Given the description of an element on the screen output the (x, y) to click on. 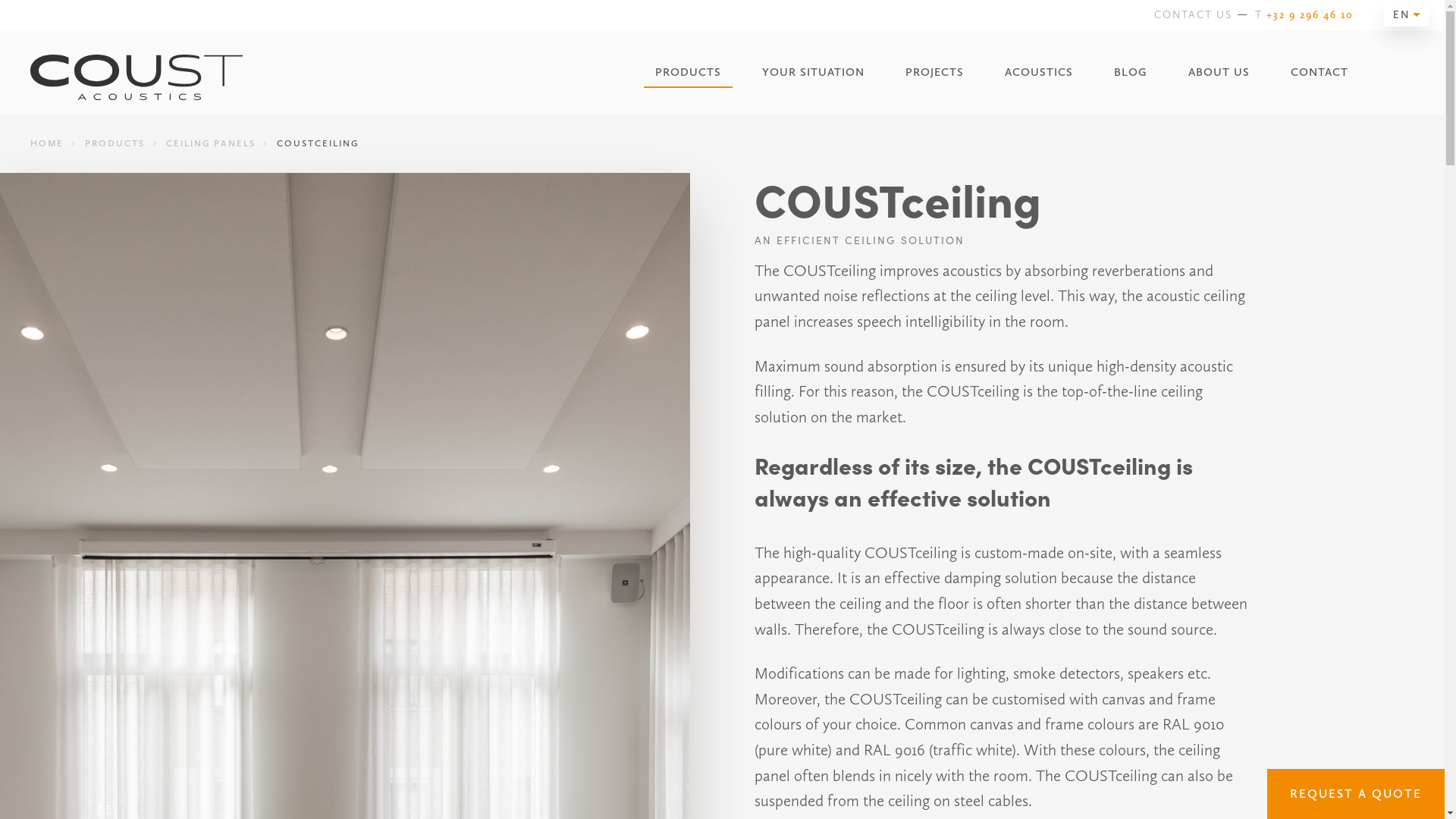
HOME Element type: text (46, 143)
ABOUT US Element type: text (1218, 71)
CONTACT Element type: text (1319, 71)
BLOG Element type: text (1130, 71)
+32 9 296 46 10 Element type: text (1309, 14)
CEILING PANELS Element type: text (210, 143)
PROJECTS Element type: text (934, 71)
PRODUCTS Element type: text (687, 71)
ACOUSTICS Element type: text (1038, 71)
PRODUCTS Element type: text (114, 143)
YOUR SITUATION Element type: text (812, 71)
